Given the description of an element on the screen output the (x, y) to click on. 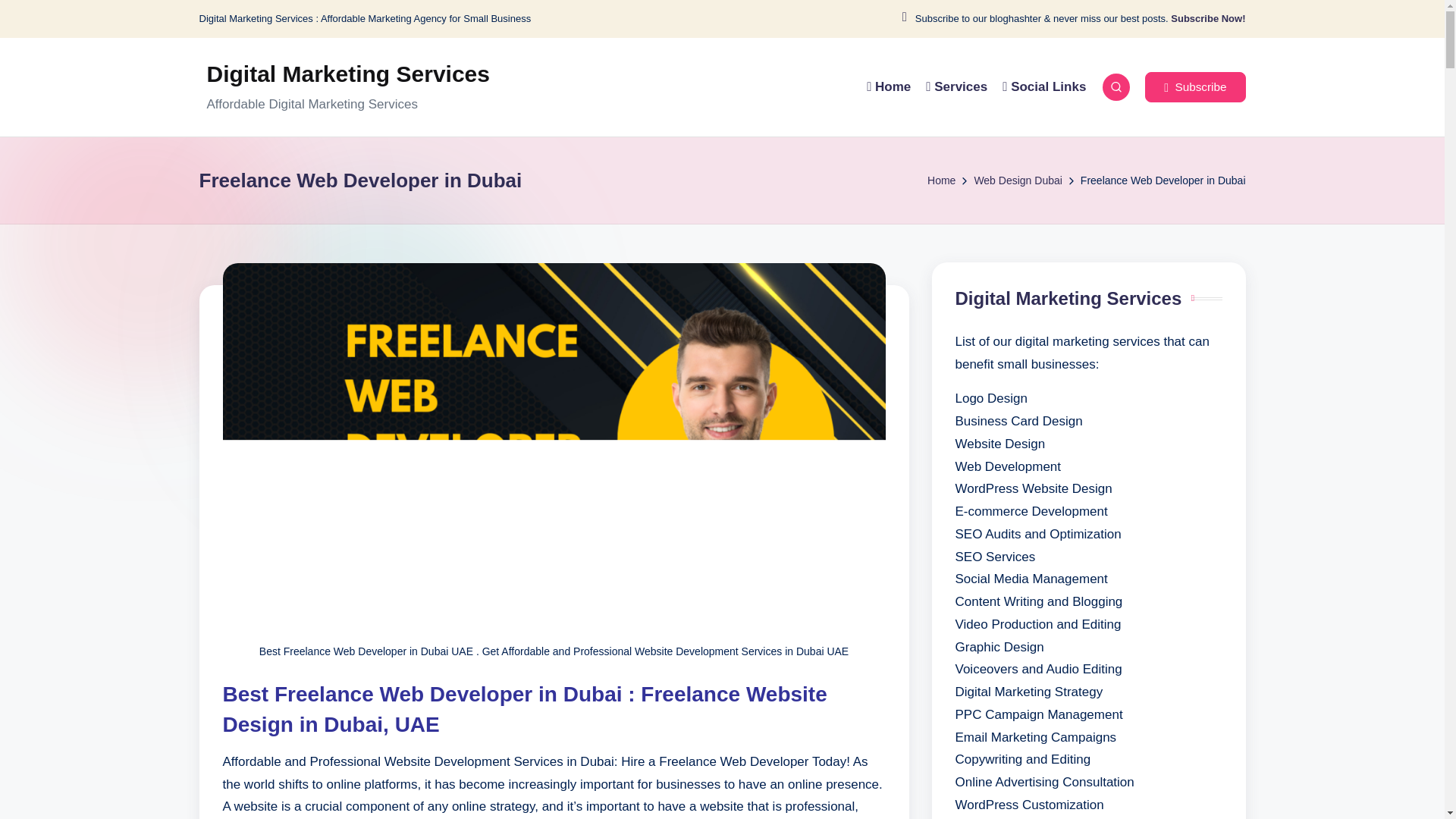
Subscribe (1194, 87)
Web Design Dubai (1017, 180)
Subscribe Now! (1207, 18)
Digital Marketing Services (347, 74)
Home (941, 180)
